Given the description of an element on the screen output the (x, y) to click on. 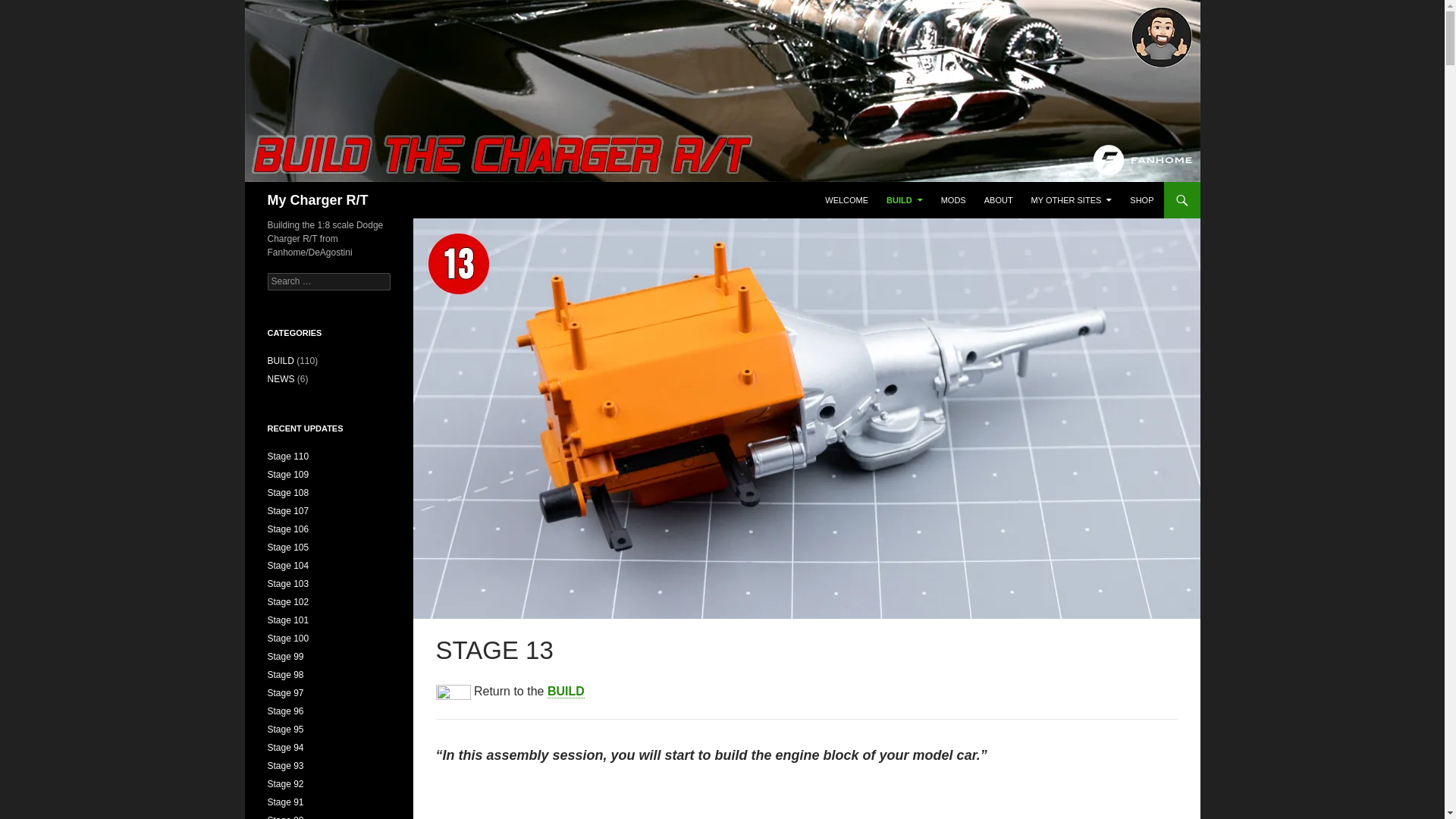
WELCOME (846, 199)
BUILD (904, 199)
